Given the description of an element on the screen output the (x, y) to click on. 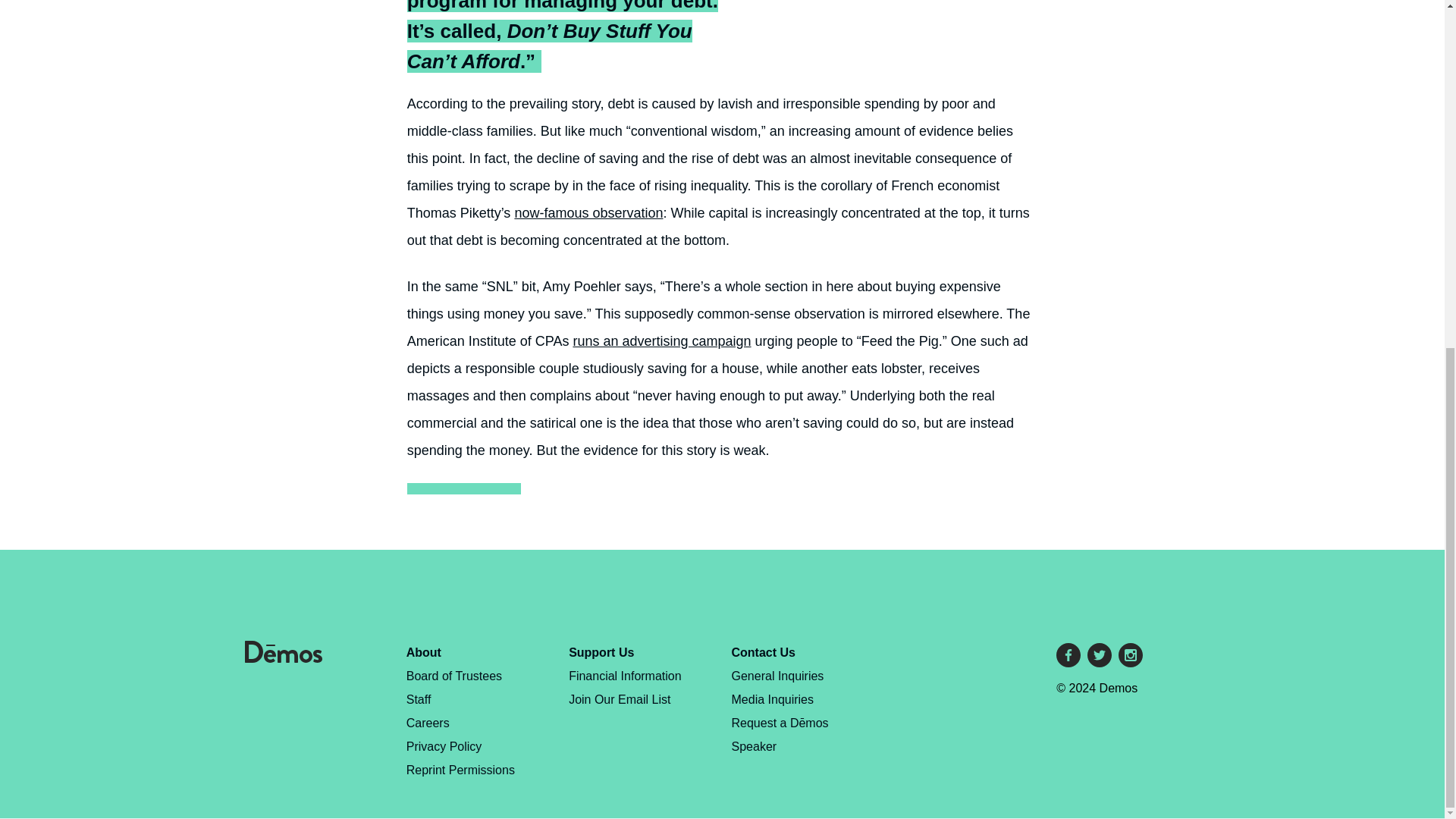
Staff (418, 698)
Reprint Permissions (460, 769)
Twitter (1099, 654)
Home (282, 658)
General Inquiries (778, 675)
now-famous observation (587, 212)
About (423, 652)
Media Inquiries (772, 698)
Facebook (1068, 654)
Contact Us (763, 652)
Privacy Policy (443, 746)
Complete a Demos speaker request (780, 734)
Financial Information (625, 675)
Support Us (601, 652)
Board of Trustees (454, 675)
